Given the description of an element on the screen output the (x, y) to click on. 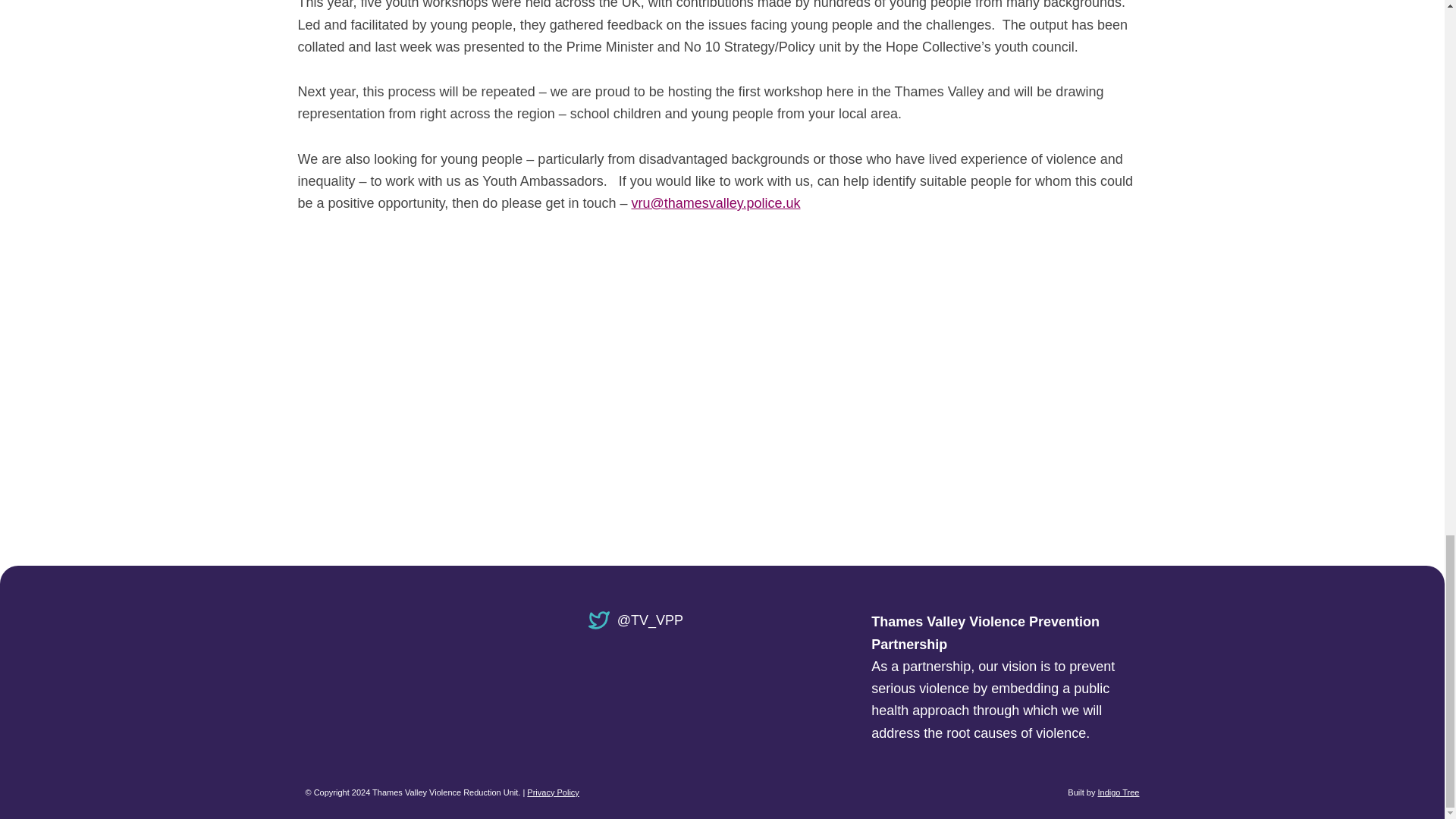
Privacy Policy (552, 791)
Indigo Tree (1117, 791)
